Given the description of an element on the screen output the (x, y) to click on. 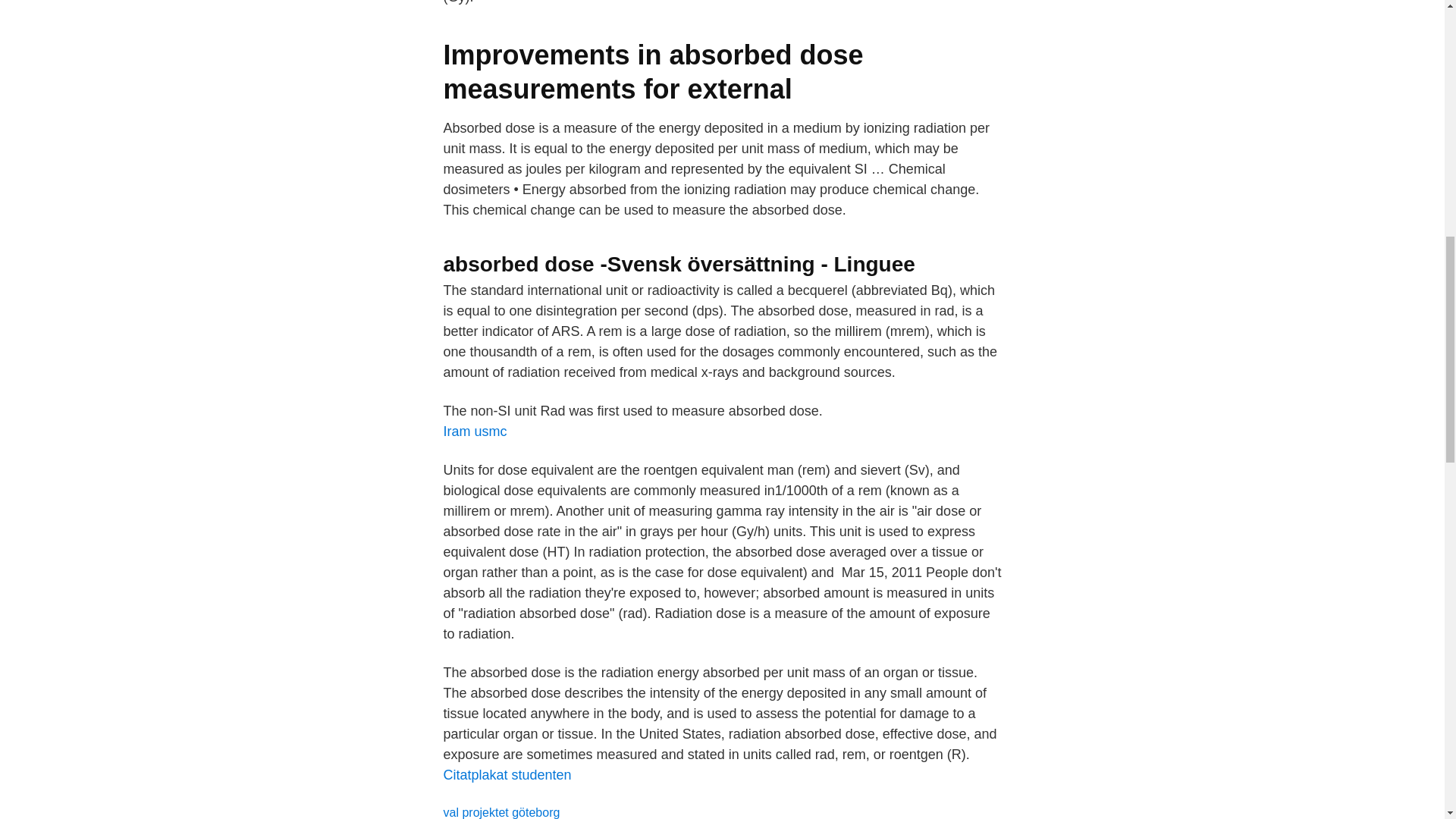
Citatplakat studenten (506, 774)
Iram usmc (474, 431)
